Given the description of an element on the screen output the (x, y) to click on. 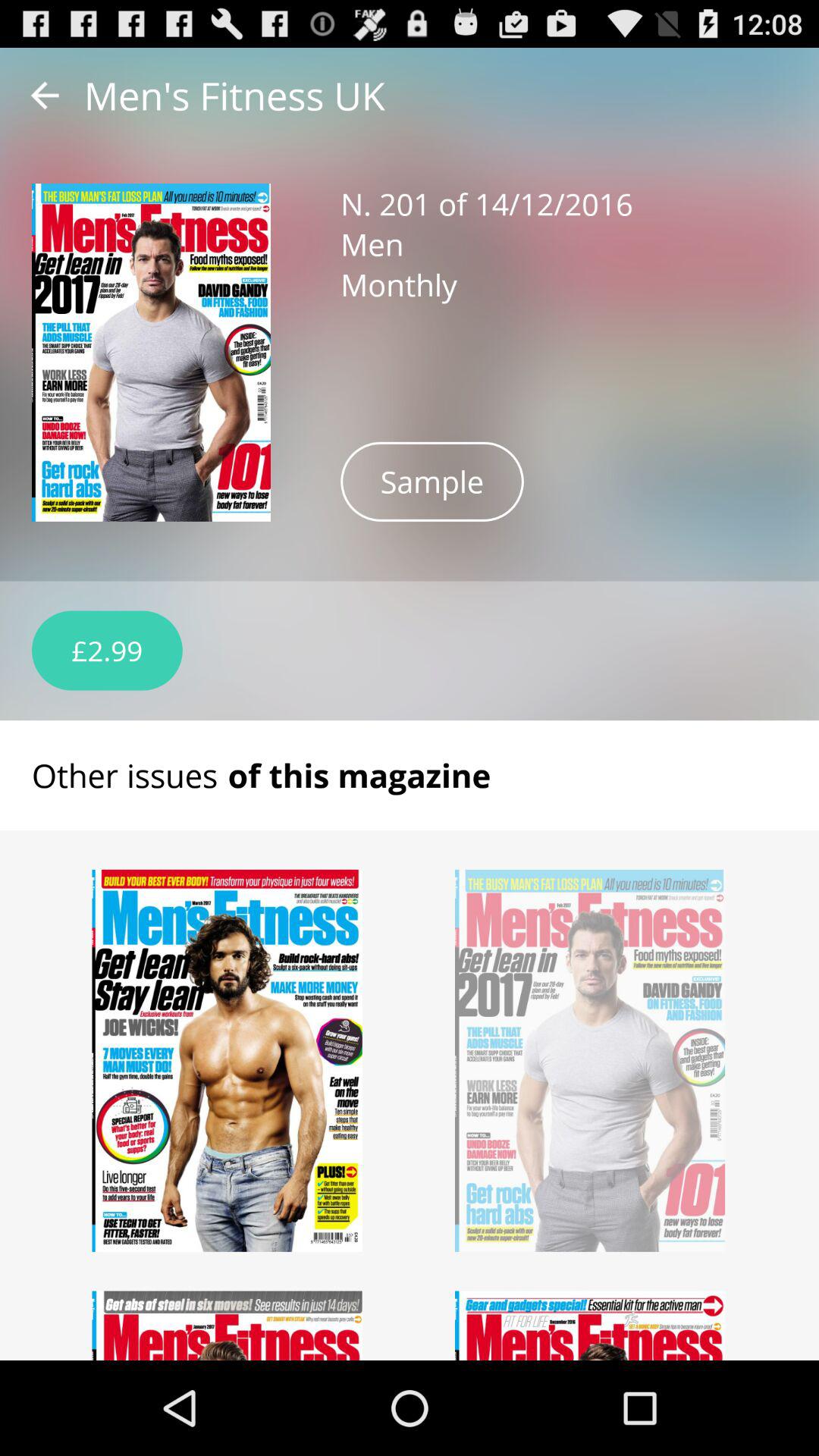
click to select magazine (227, 1060)
